Given the description of an element on the screen output the (x, y) to click on. 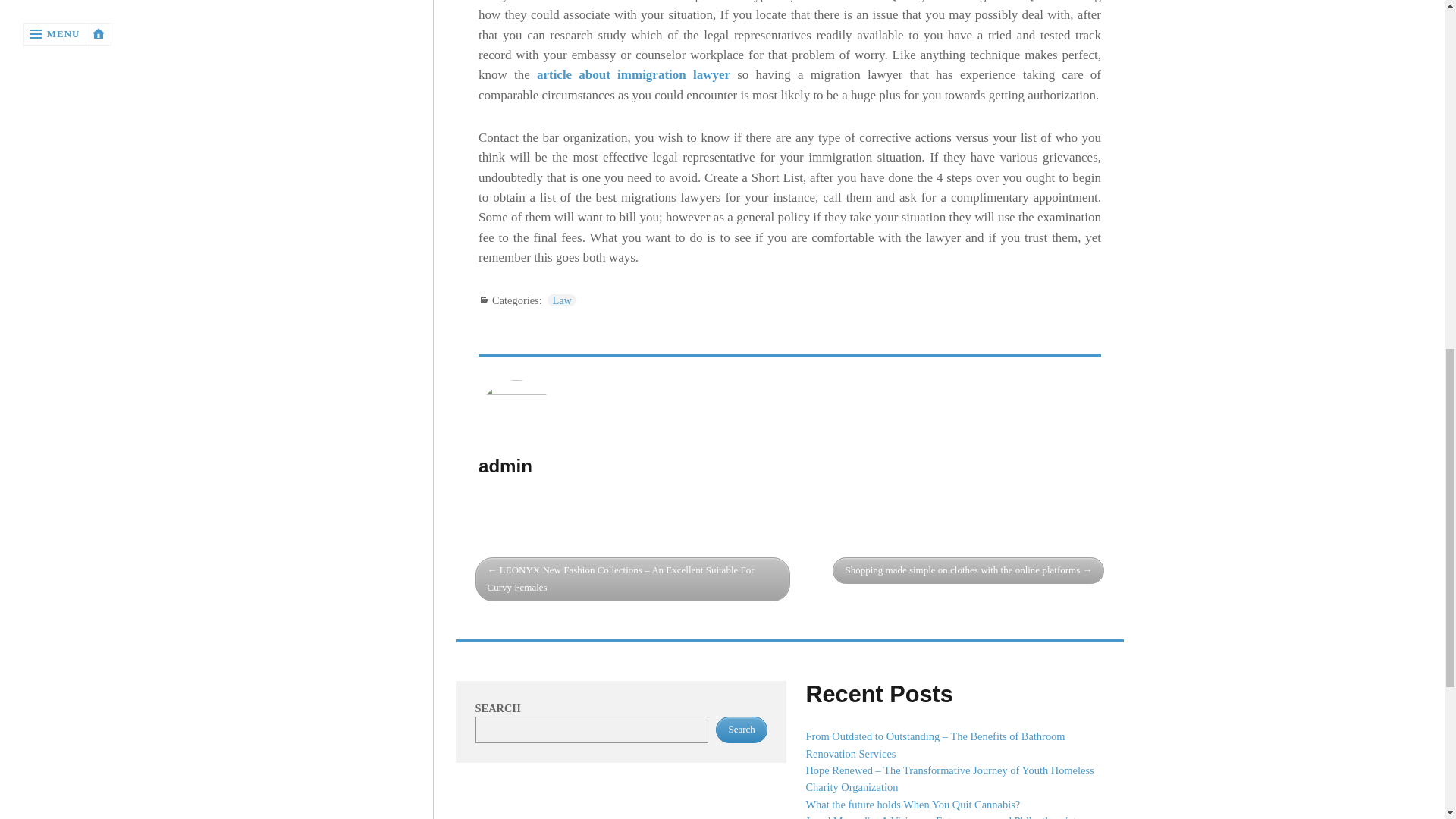
What the future holds When You Quit Cannabis? (912, 804)
Shopping made simple on clothes with the online platforms (967, 570)
article about immigration lawyer (633, 74)
Law (561, 300)
Search (741, 729)
